Given the description of an element on the screen output the (x, y) to click on. 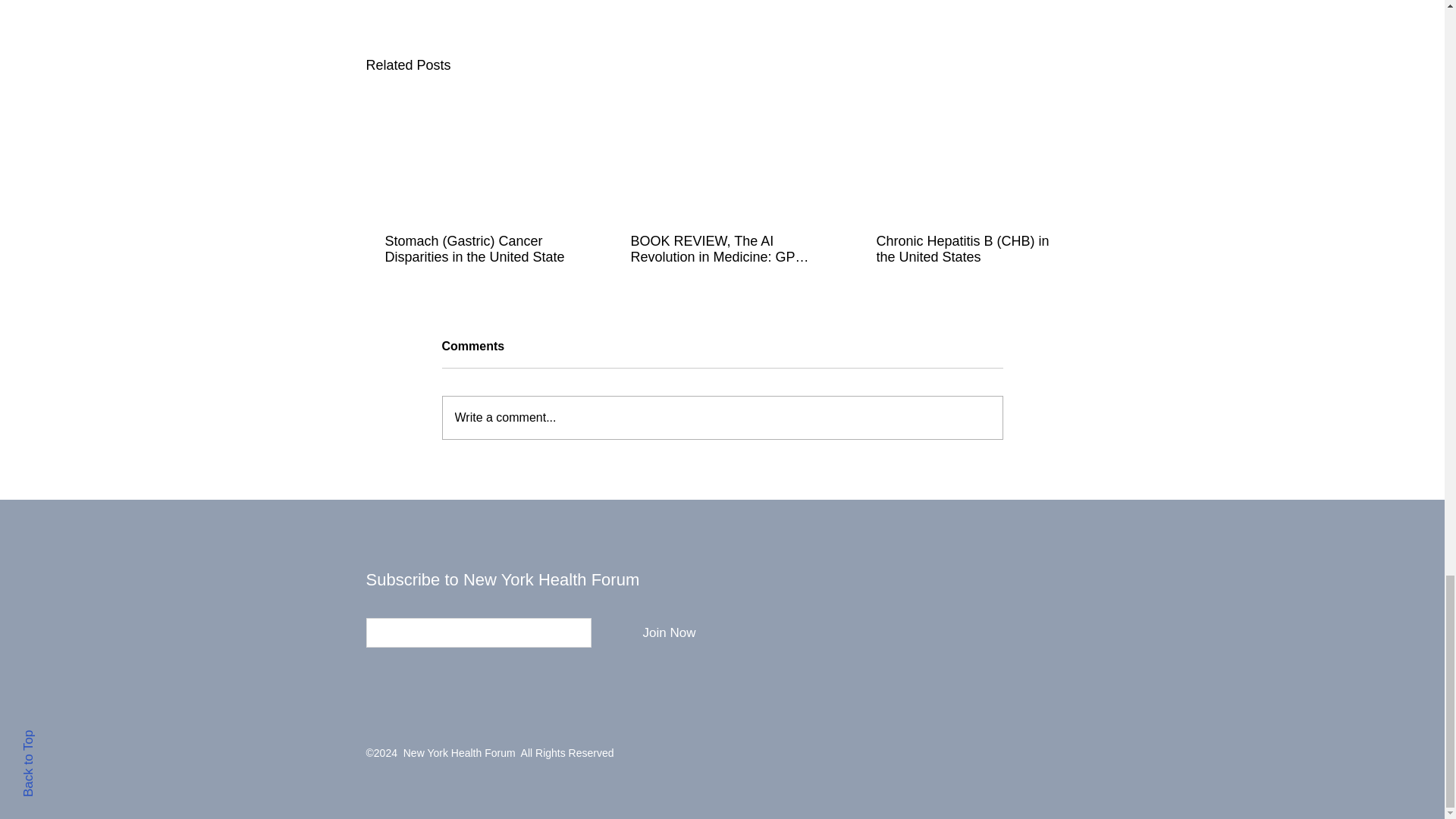
Join Now (668, 632)
BOOK REVIEW, The AI Revolution in Medicine: GPT-4 and Beyond (721, 249)
Write a comment... (722, 417)
